Given the description of an element on the screen output the (x, y) to click on. 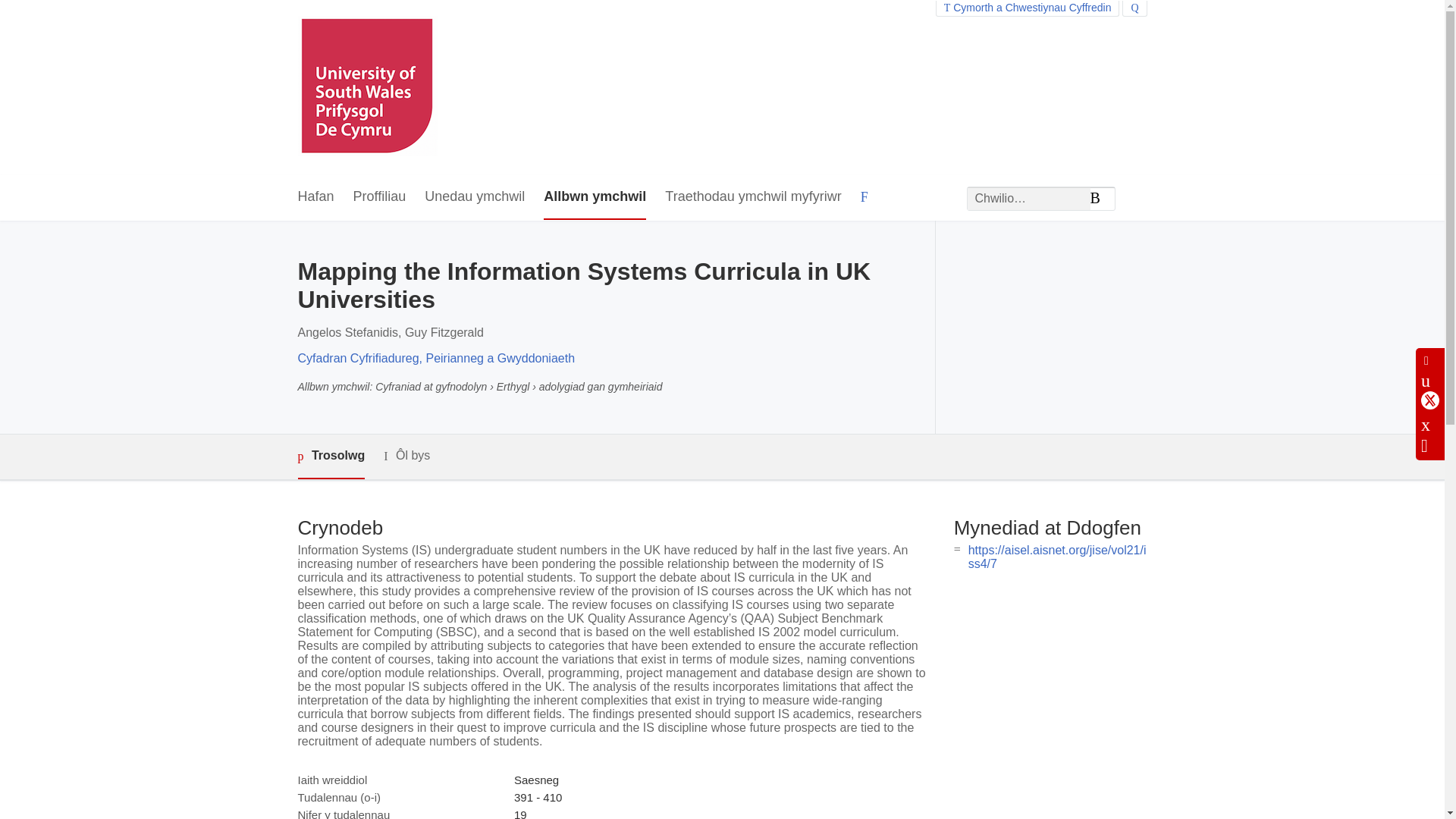
Cyfadran Cyfrifiadureg, Peirianneg a Gwyddoniaeth (436, 358)
Proffiliau (379, 197)
Unedau ymchwil (474, 197)
Allbwn ymchwil (594, 197)
Traethodau ymchwil myfyriwr (753, 197)
Trosolwg (331, 456)
Cymorth a Chwestiynau Cyffredin (1027, 7)
Prifysgol de Cymru Hafan (366, 87)
